Given the description of an element on the screen output the (x, y) to click on. 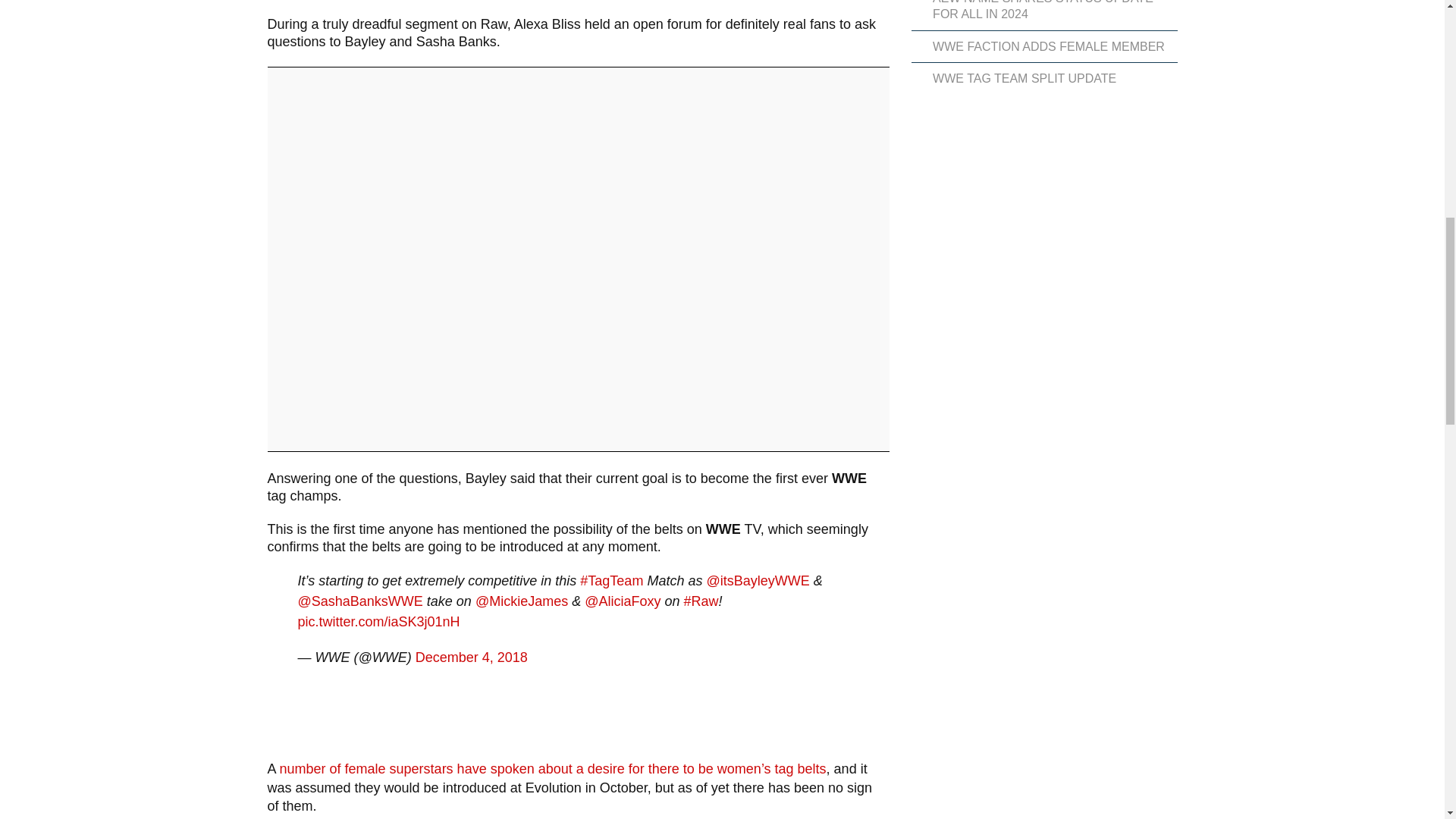
December 4, 2018 (470, 657)
